Given the description of an element on the screen output the (x, y) to click on. 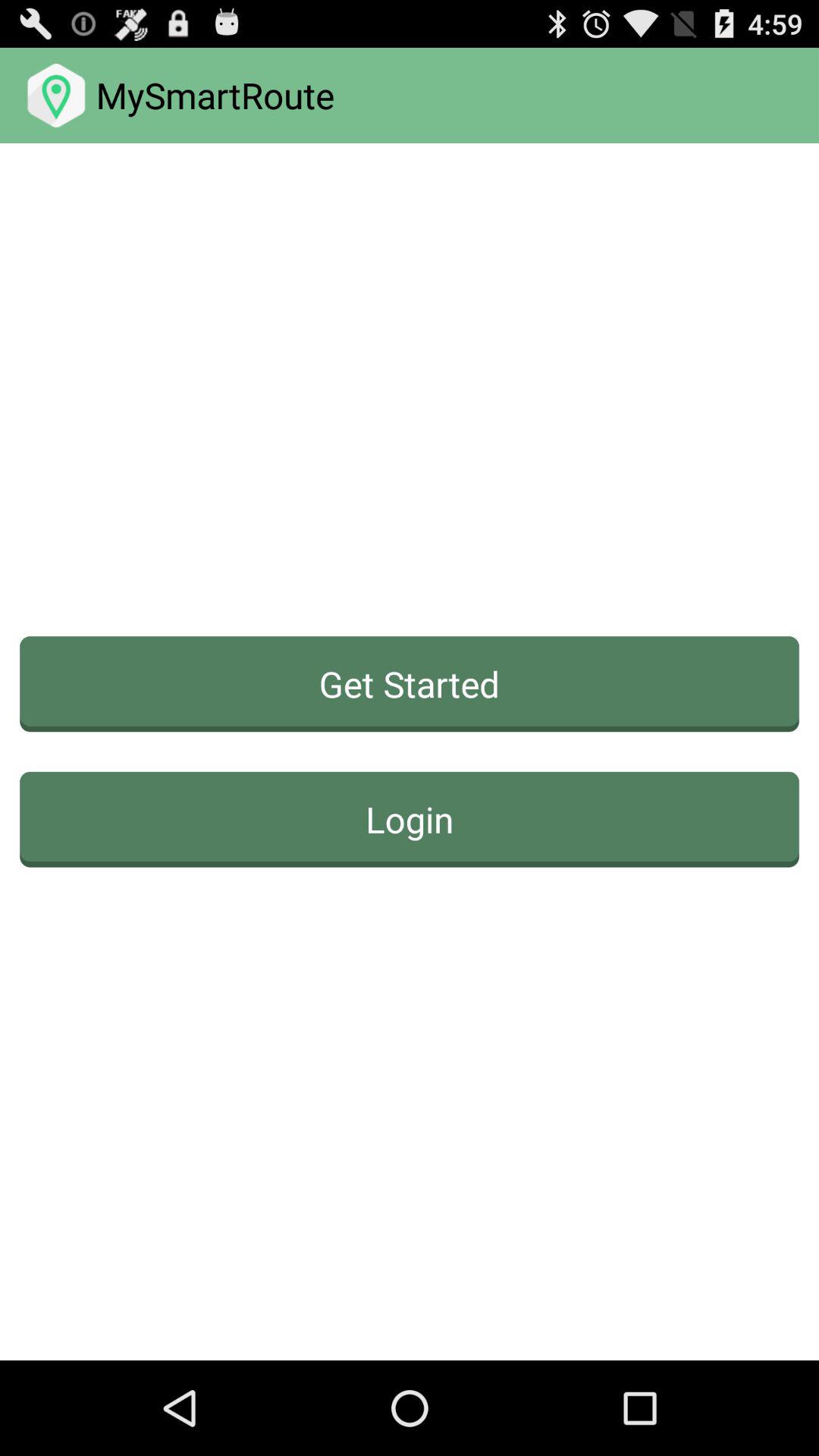
open login button (409, 819)
